Given the description of an element on the screen output the (x, y) to click on. 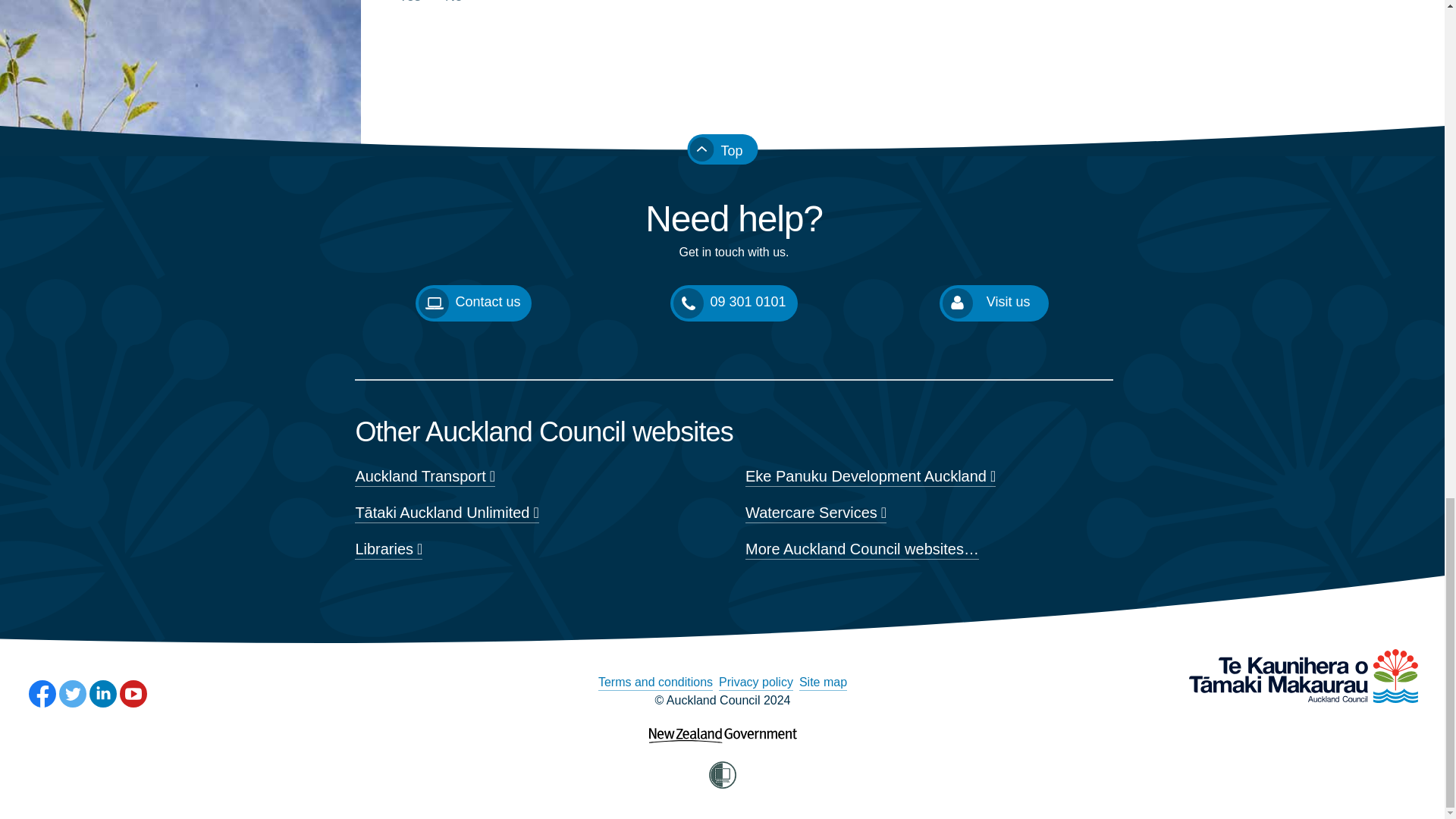
New Zealand Government (722, 725)
Auckland Council on Twitter (72, 693)
Auckland Council on Facebook (42, 693)
Auckland Council on Youtube (133, 693)
Auckland Council on LinkedIn (102, 693)
Auckland Council (1303, 675)
